Given the description of an element on the screen output the (x, y) to click on. 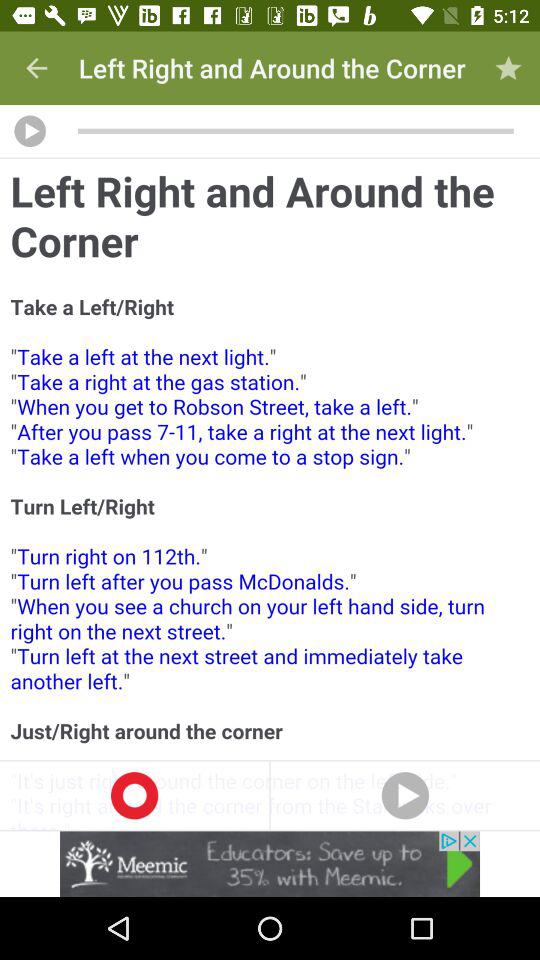
play the audio (30, 131)
